Given the description of an element on the screen output the (x, y) to click on. 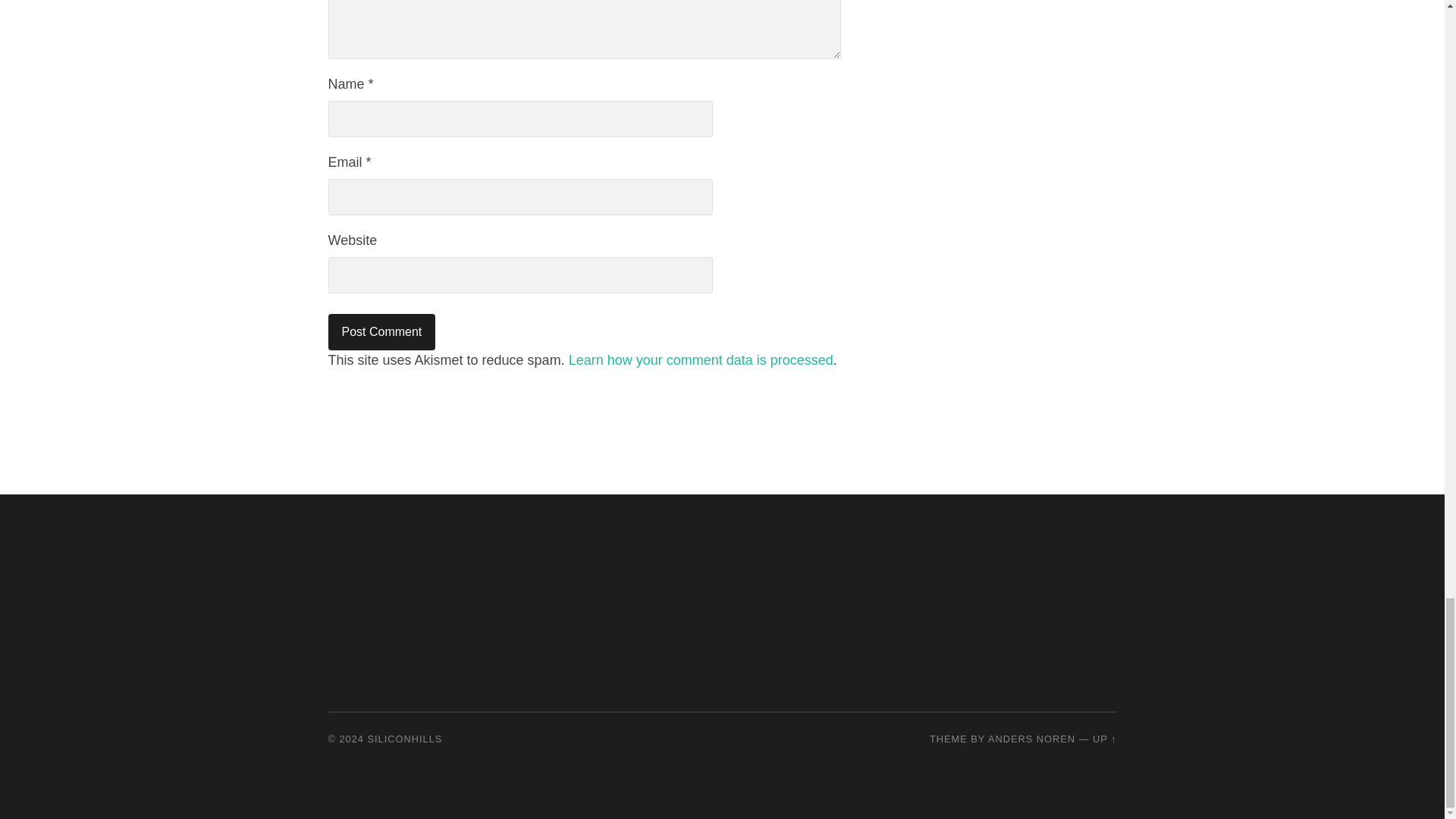
Post Comment (381, 331)
To the top (1104, 738)
Learn how your comment data is processed (700, 359)
Post Comment (381, 331)
